Given the description of an element on the screen output the (x, y) to click on. 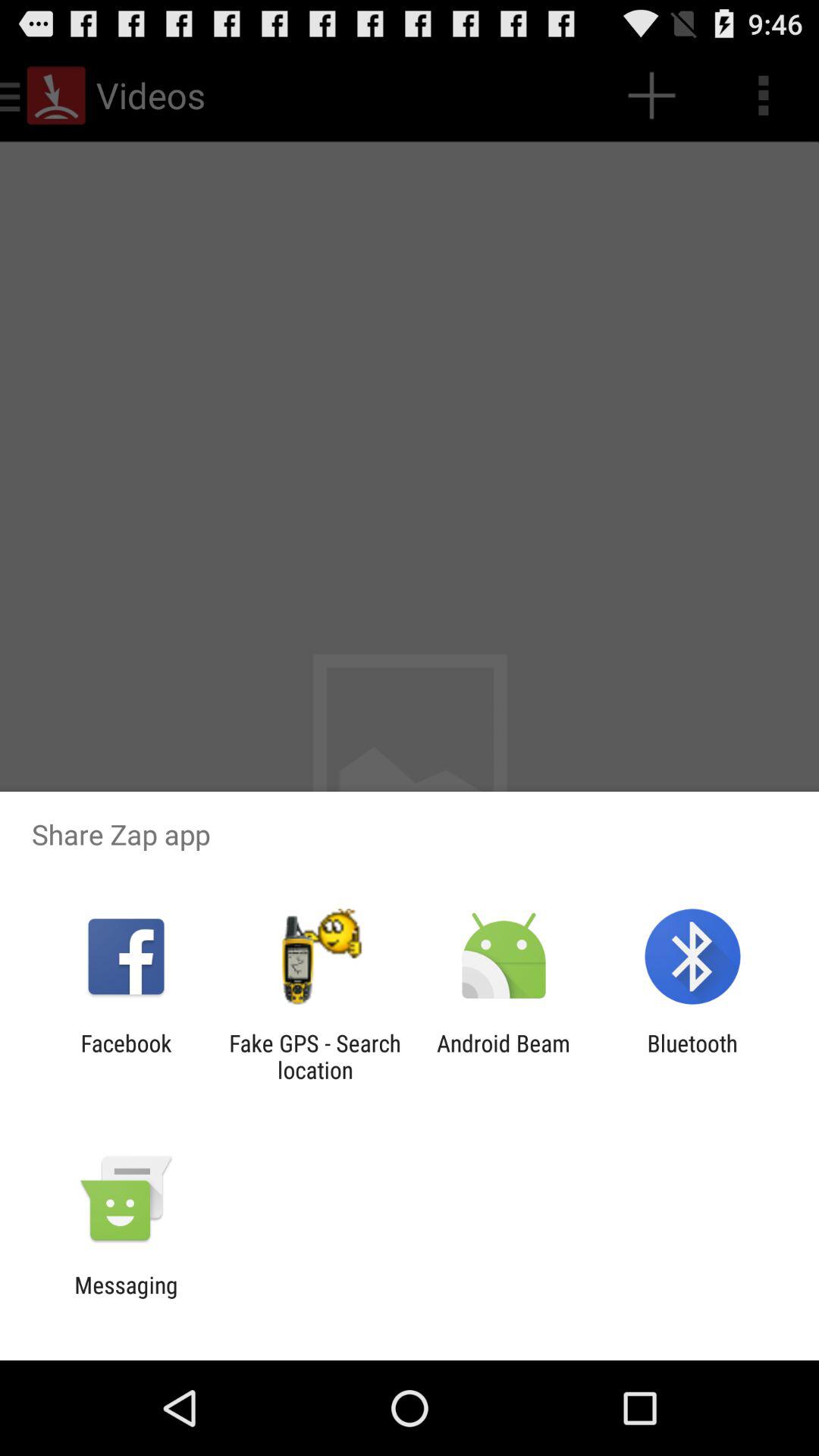
click app to the left of the android beam (314, 1056)
